Given the description of an element on the screen output the (x, y) to click on. 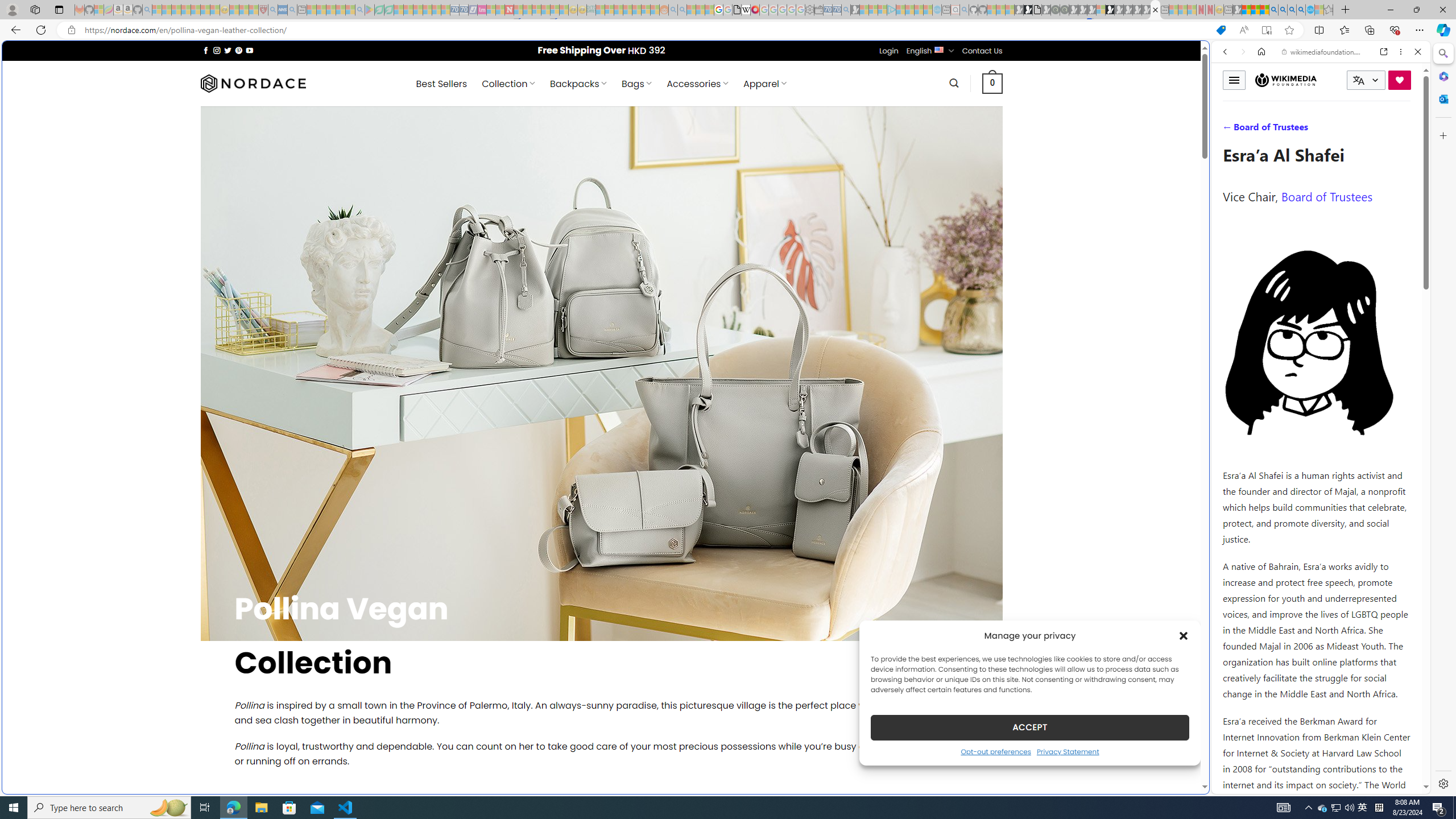
Wiktionary (1315, 380)
Services - Maintenance | Sky Blue Bikes - Sky Blue Bikes (1309, 9)
SEARCH TOOLS (1350, 130)
